Given the description of an element on the screen output the (x, y) to click on. 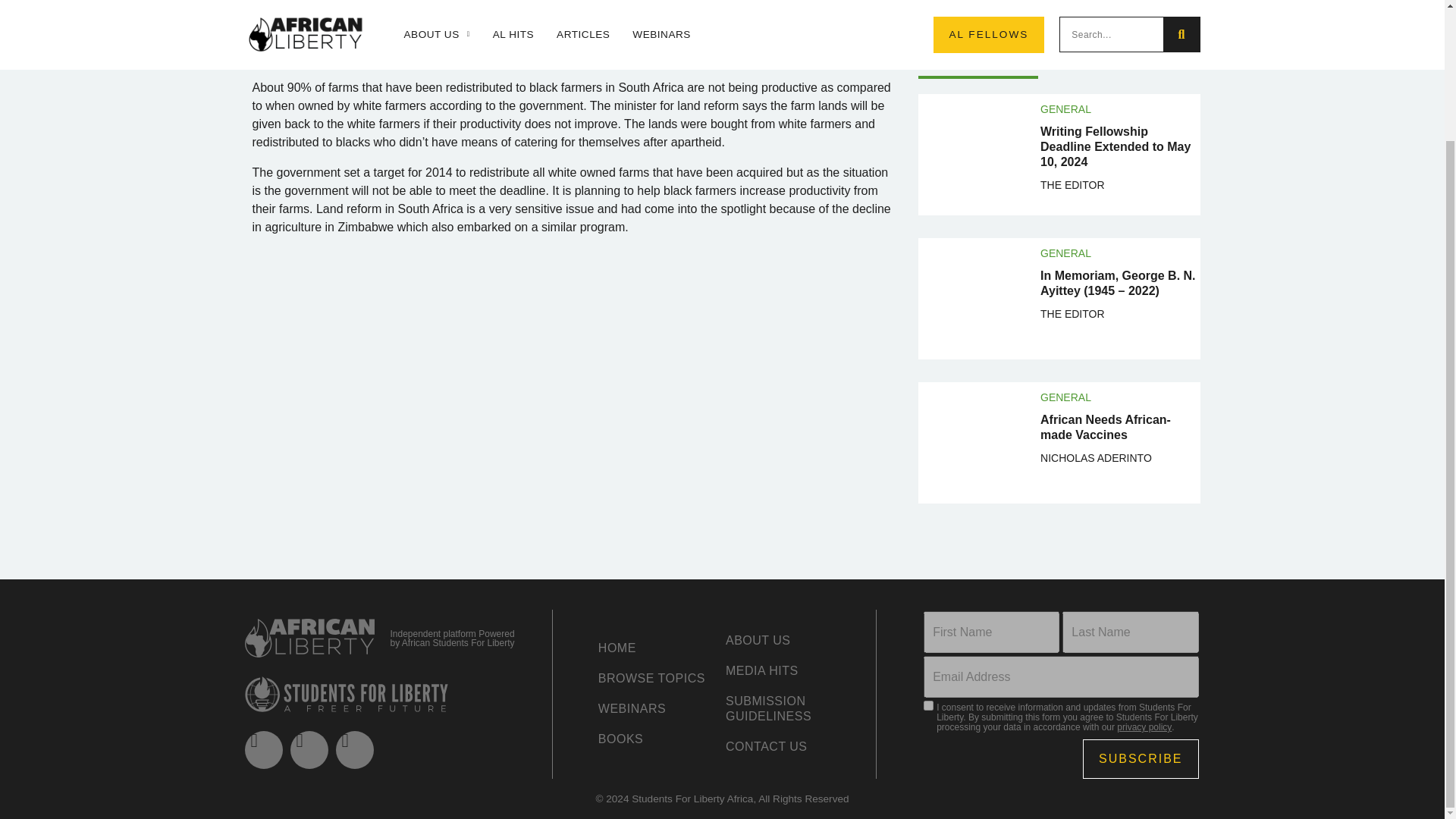
Last Name (1130, 631)
Email (1060, 676)
Subscribe (1140, 758)
First Name (991, 631)
